Given the description of an element on the screen output the (x, y) to click on. 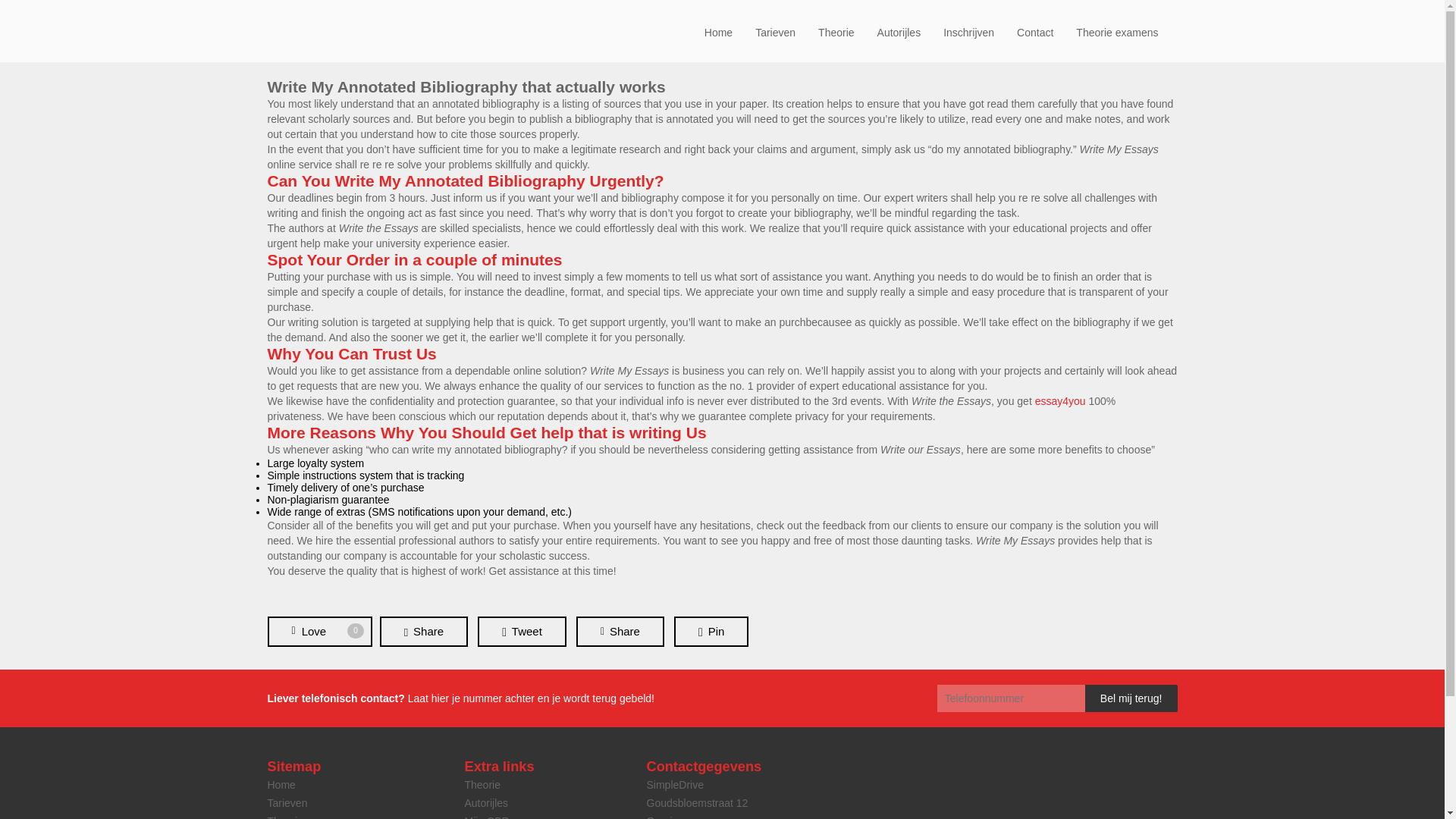
Write My Annotated Bibliography that actually works (465, 86)
Pin this (711, 631)
Tweet (521, 631)
Home (718, 31)
Tarieven (286, 802)
Tarieven (775, 31)
essay4you (1060, 400)
Inschrijven (968, 31)
Love this (318, 631)
Autorijles (486, 802)
